Given the description of an element on the screen output the (x, y) to click on. 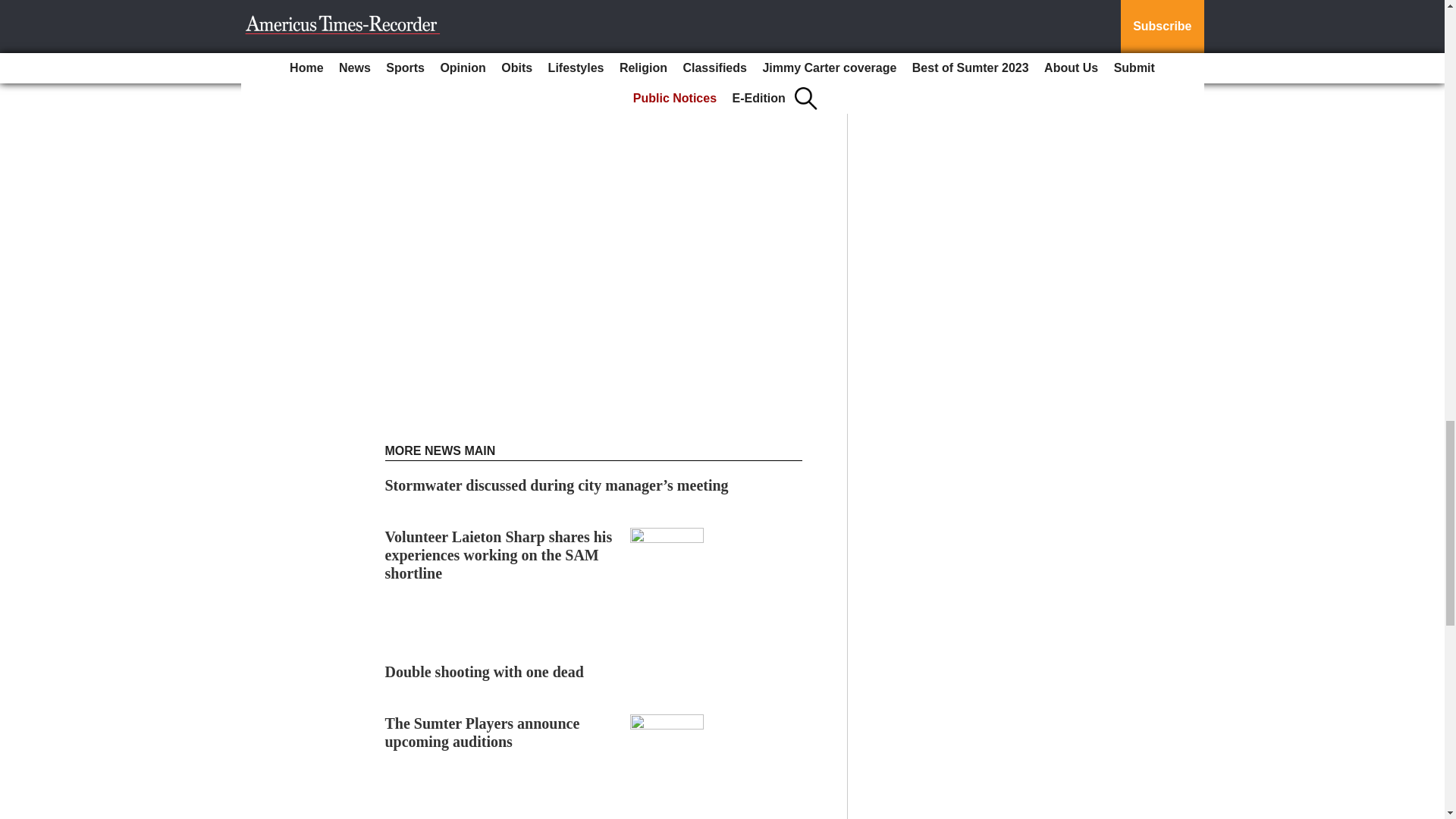
Double shooting with one dead (484, 671)
The Sumter Players announce upcoming auditions (482, 732)
The Sumter Players announce upcoming auditions (482, 732)
Double shooting with one dead (484, 671)
